Given the description of an element on the screen output the (x, y) to click on. 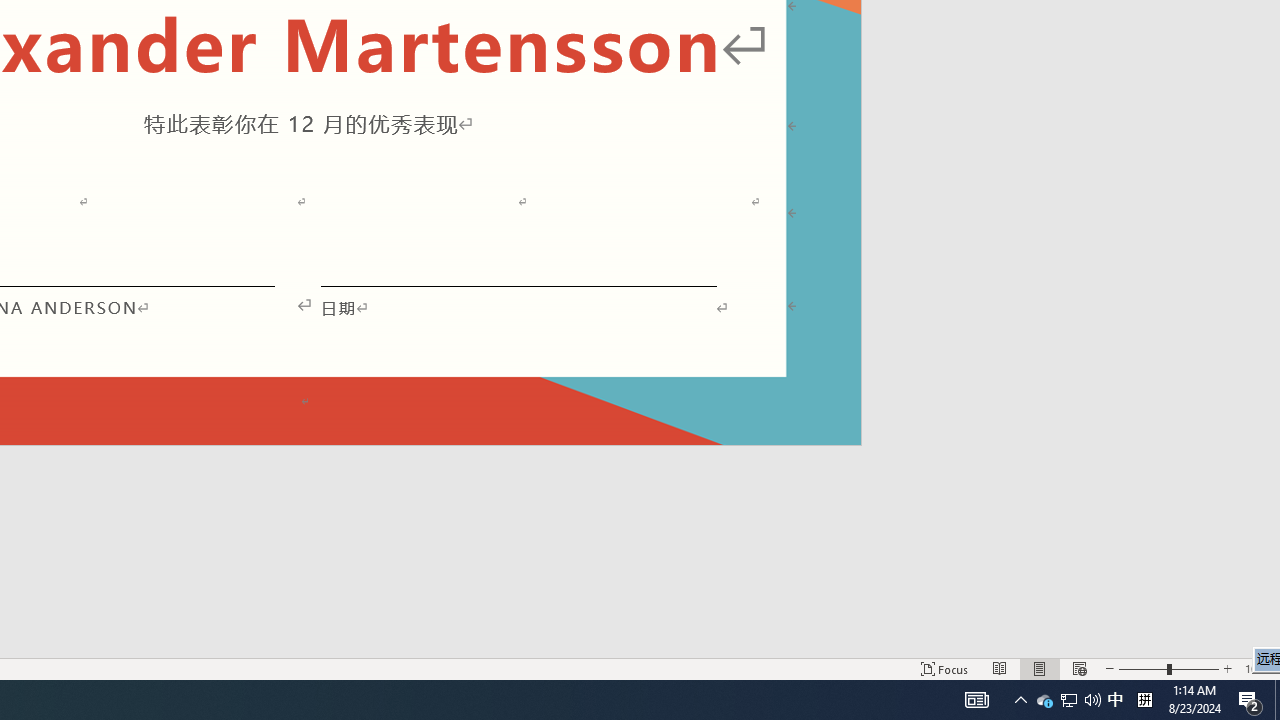
Zoom 100% (1258, 668)
